Given the description of an element on the screen output the (x, y) to click on. 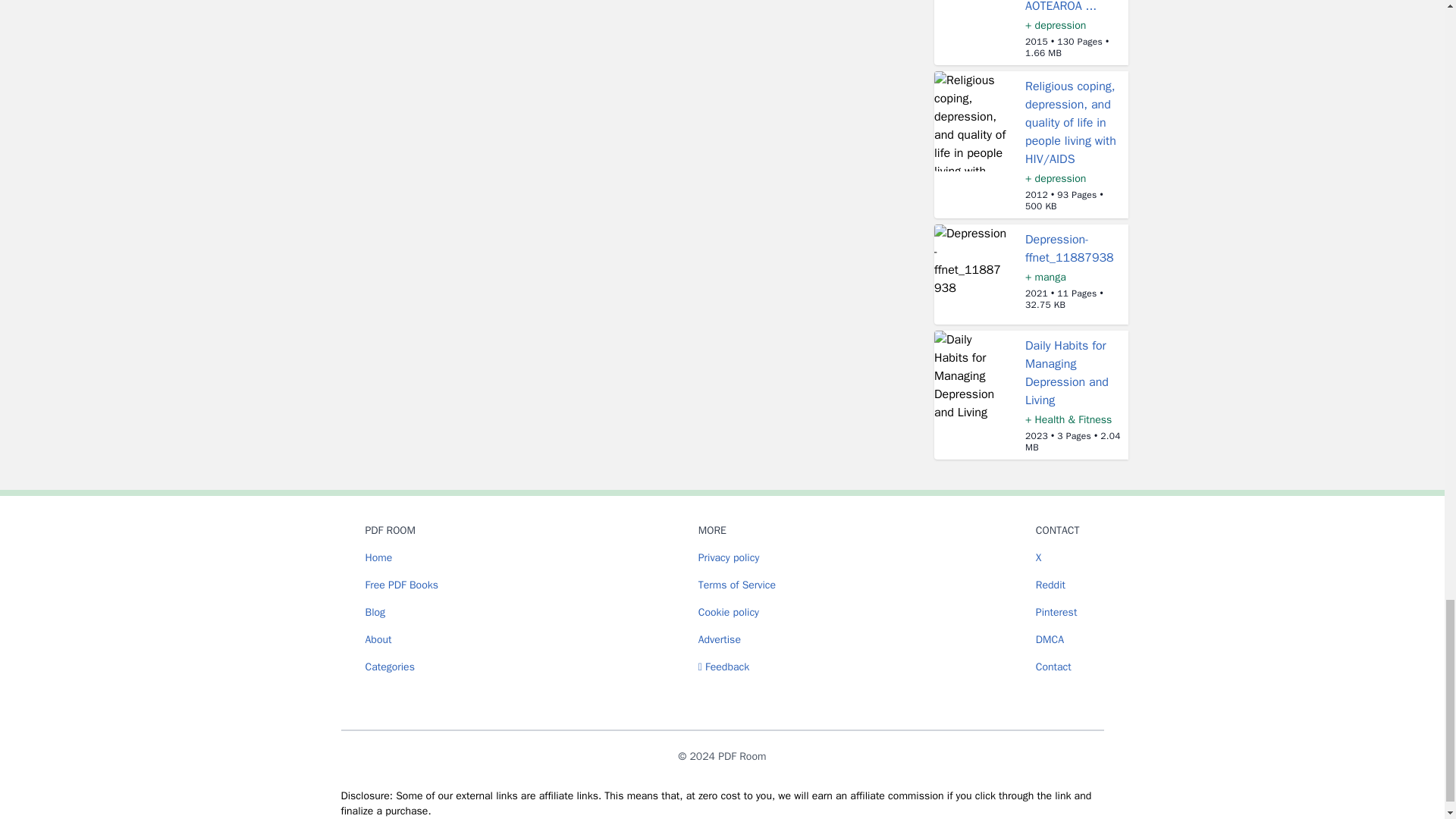
Daily Habits for Managing Depression and Living (1066, 372)
